Given the description of an element on the screen output the (x, y) to click on. 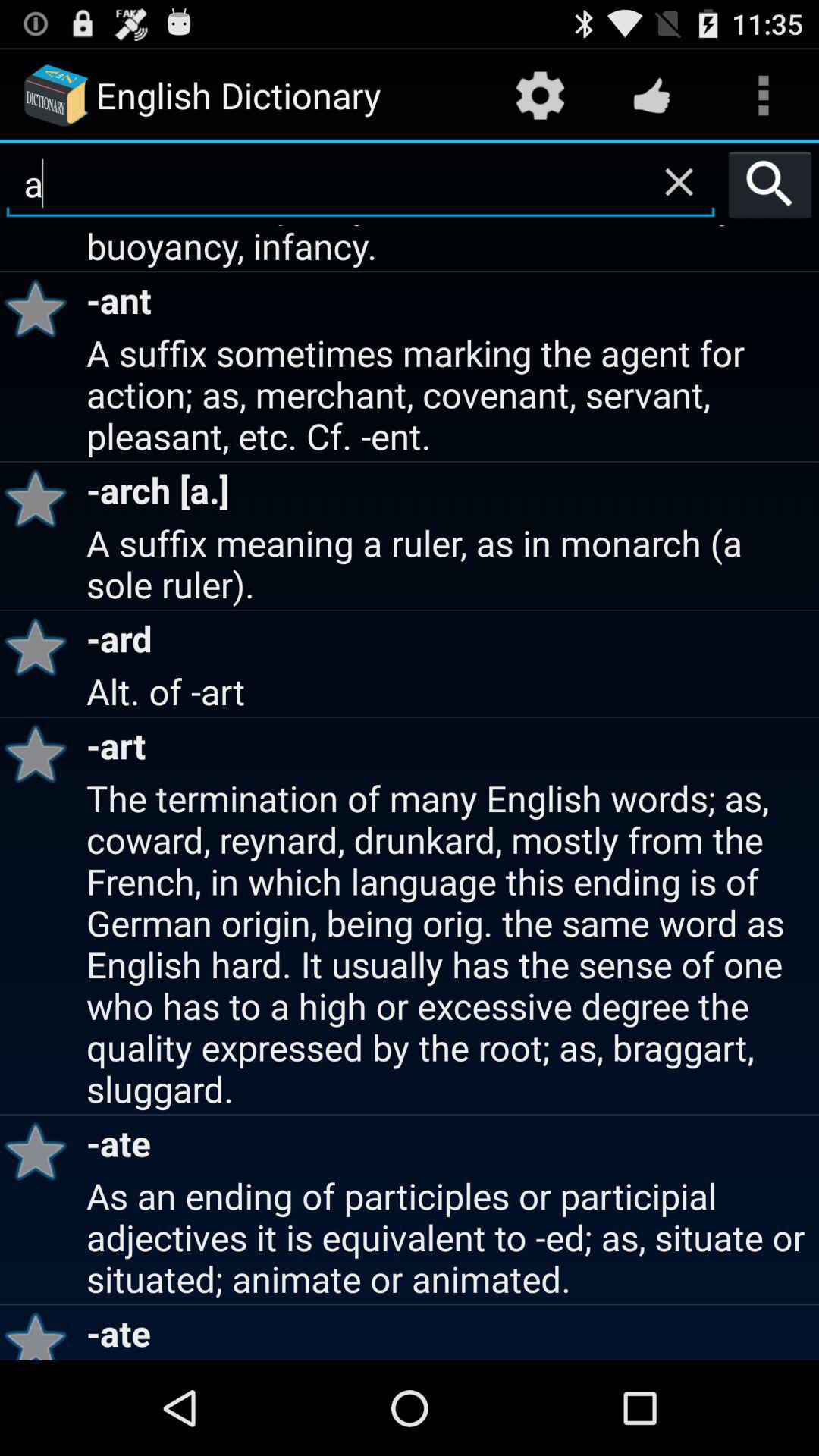
turn off alt. of -art item (451, 689)
